Given the description of an element on the screen output the (x, y) to click on. 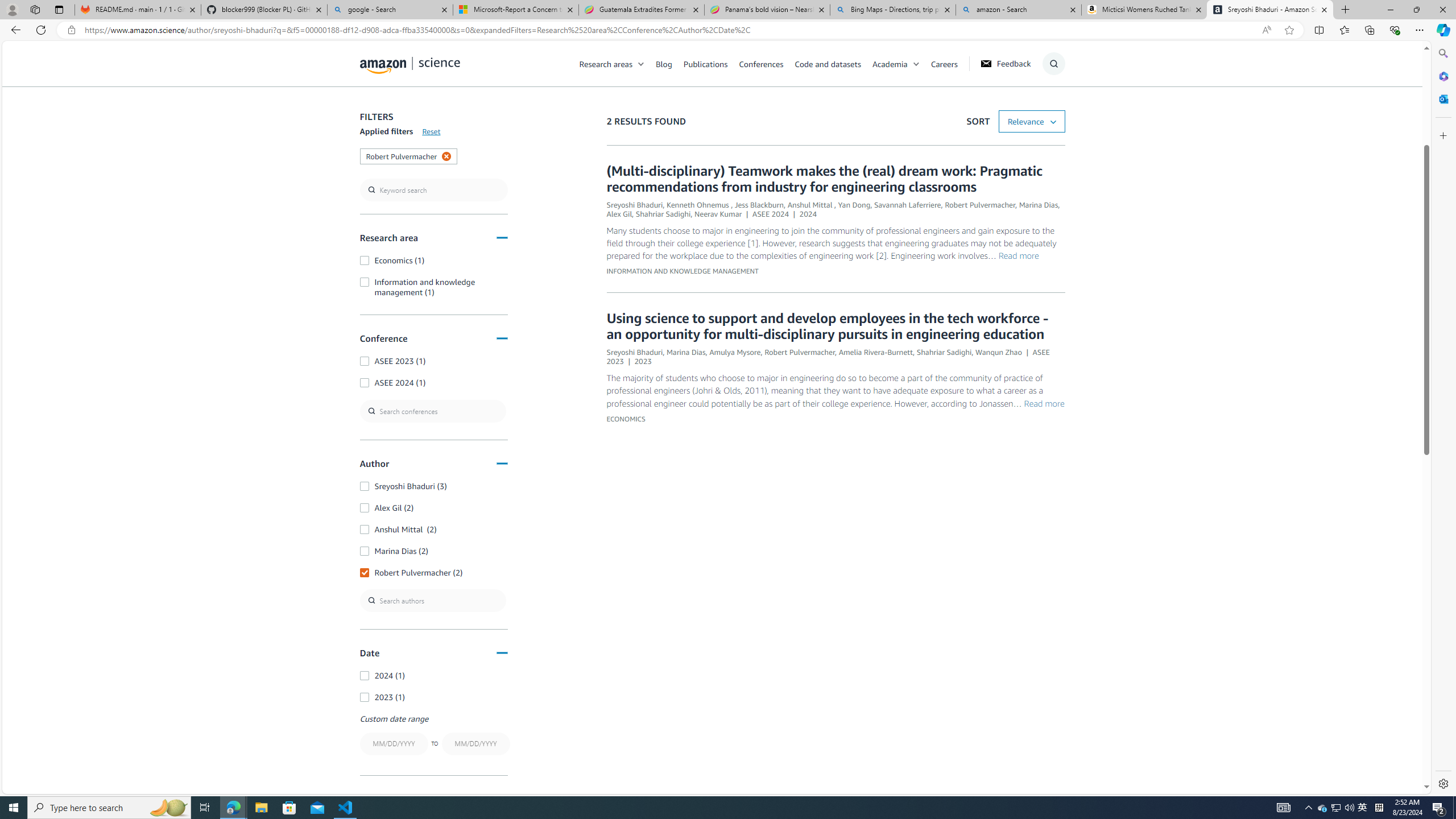
Yan Dong (853, 204)
Submit Search (1049, 108)
Class: icon-magnify (372, 108)
Open Sub Navigation (916, 63)
